Given the description of an element on the screen output the (x, y) to click on. 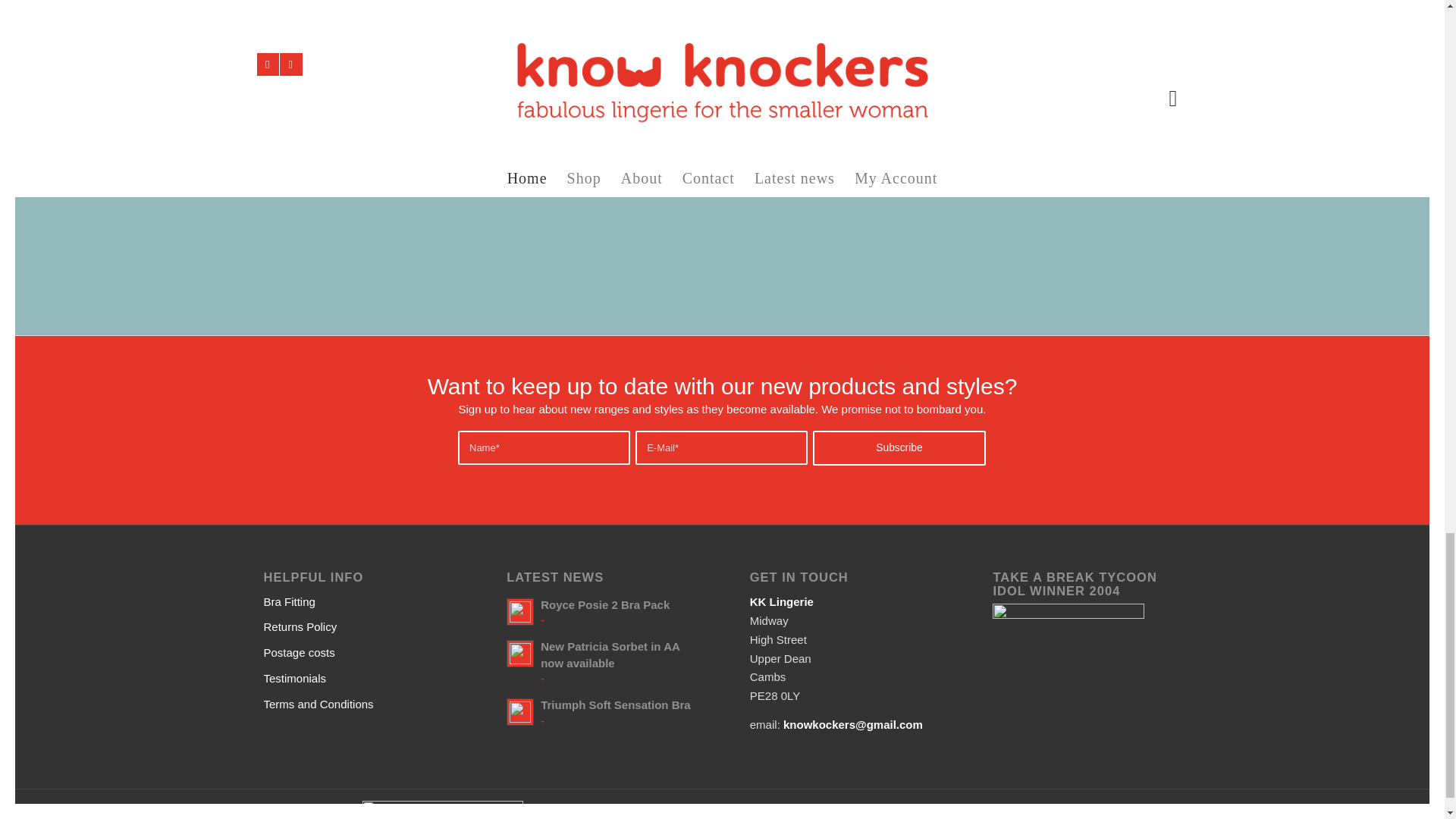
Subscribe (898, 447)
Read: Royce Posie 2 Bra Pack (520, 611)
Read: Royce Posie 2 Bra Pack (604, 604)
